Given the description of an element on the screen output the (x, y) to click on. 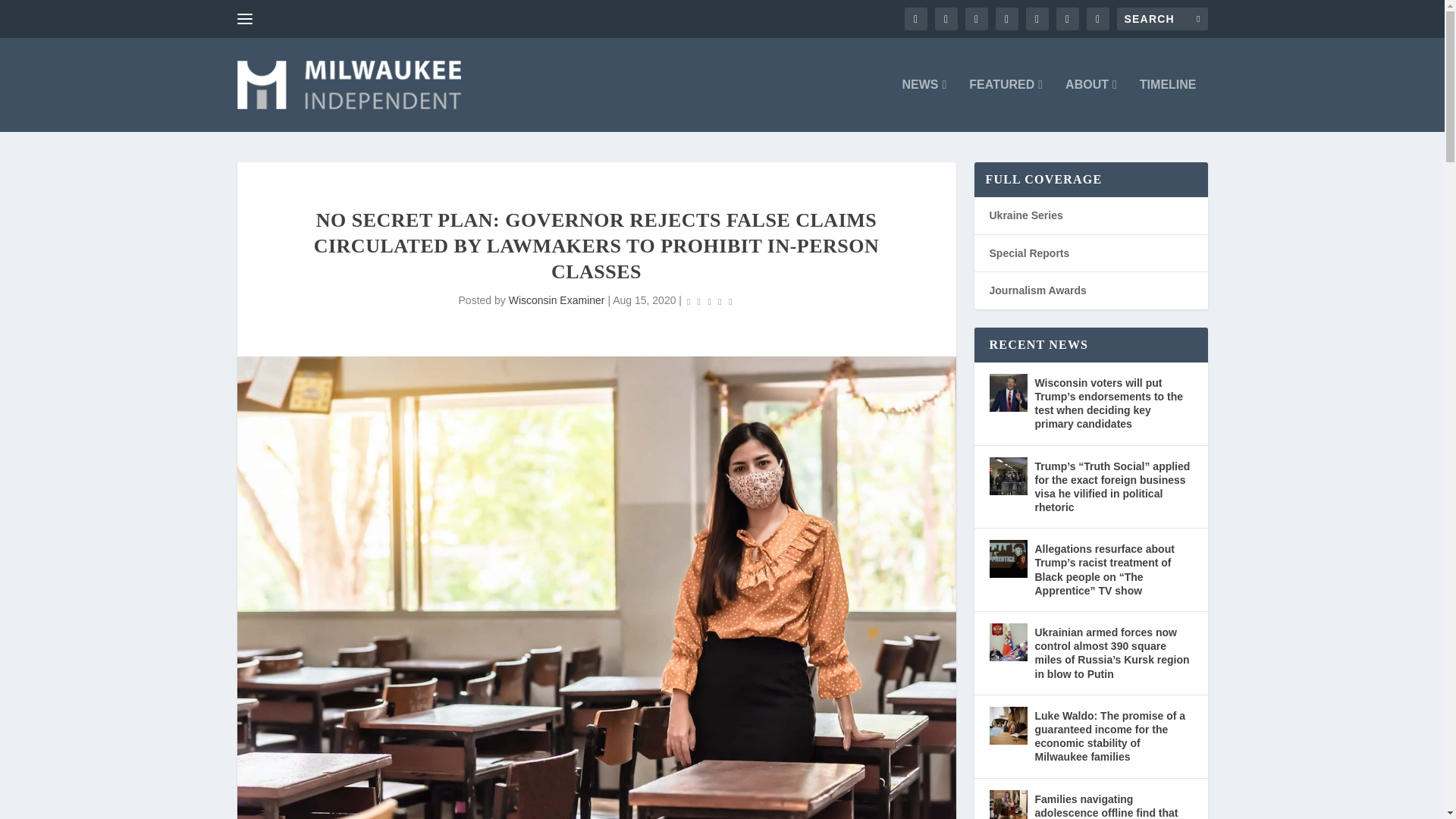
FEATURED (1005, 104)
ABOUT (1090, 104)
Search for: (1161, 18)
TIMELINE (1168, 104)
Rating: 0.50 (709, 301)
Posts by Wisconsin Examiner (556, 300)
